Given the description of an element on the screen output the (x, y) to click on. 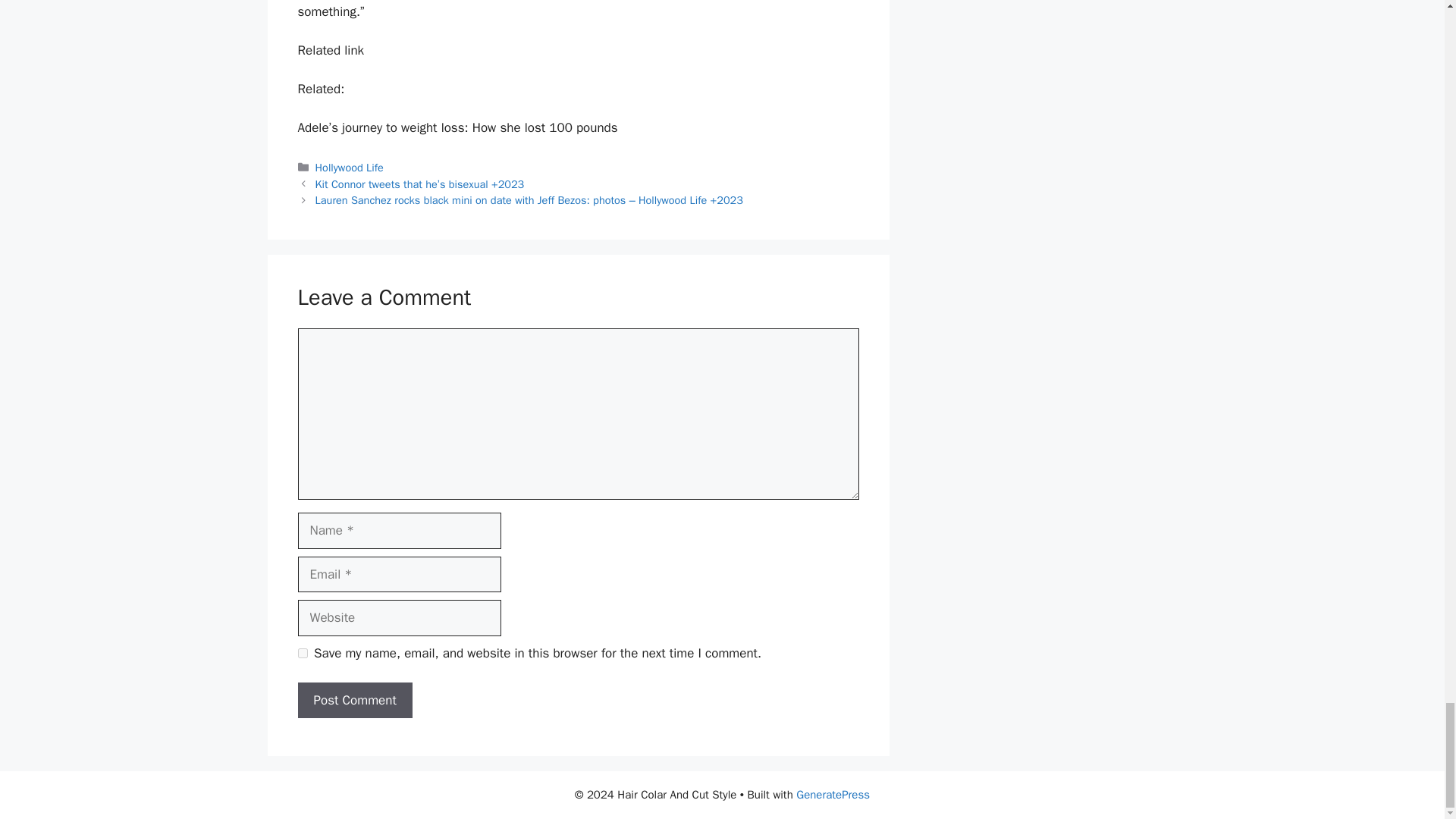
GeneratePress (832, 794)
yes (302, 653)
Post Comment (354, 700)
Hollywood Life (349, 167)
Post Comment (354, 700)
